Given the description of an element on the screen output the (x, y) to click on. 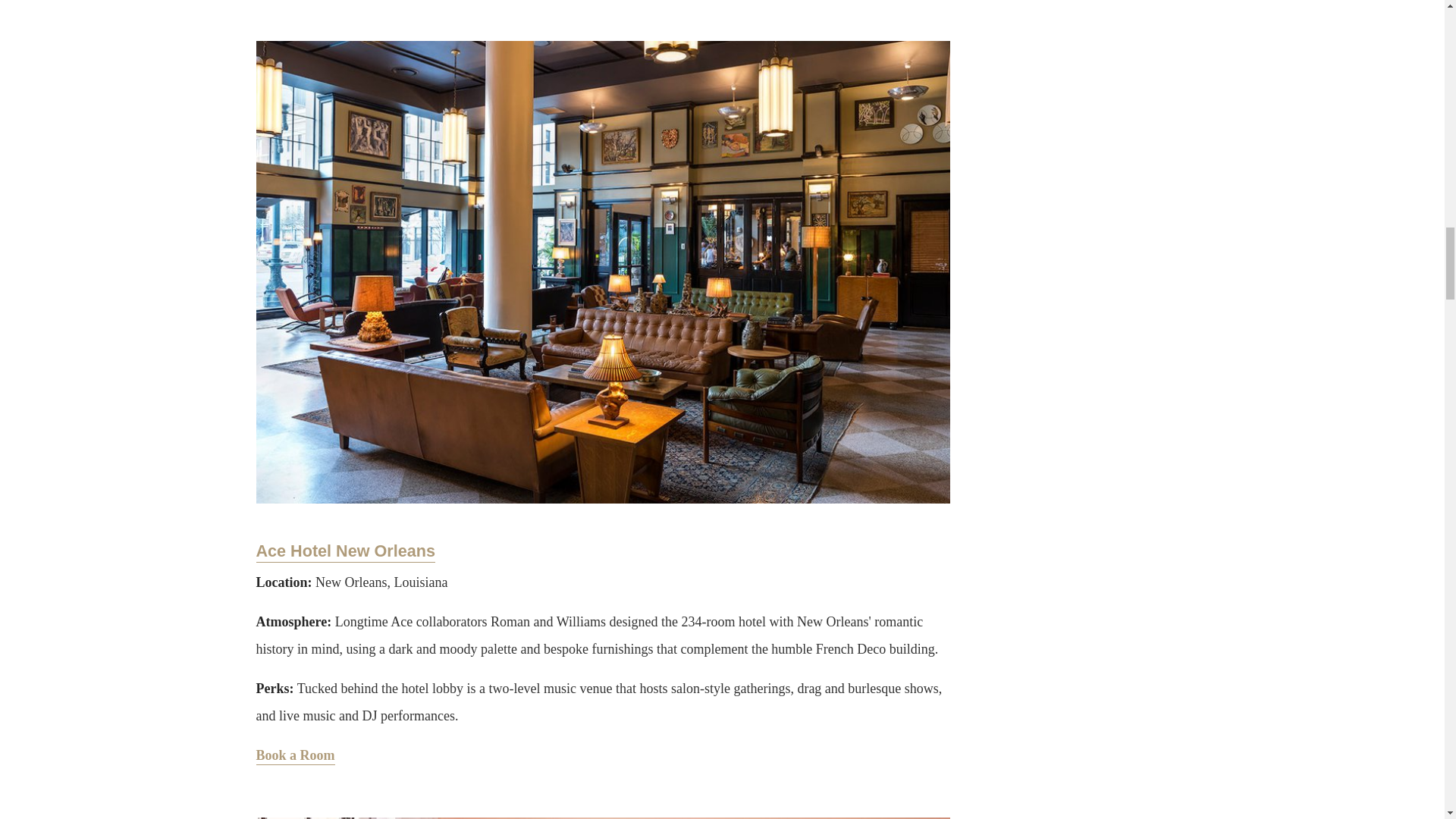
Book a Room (295, 755)
Ace Hotel New Orleans (345, 551)
Book Ace Hotel New Orleans (295, 755)
Ace Hotel New Orleans (345, 551)
